Given the description of an element on the screen output the (x, y) to click on. 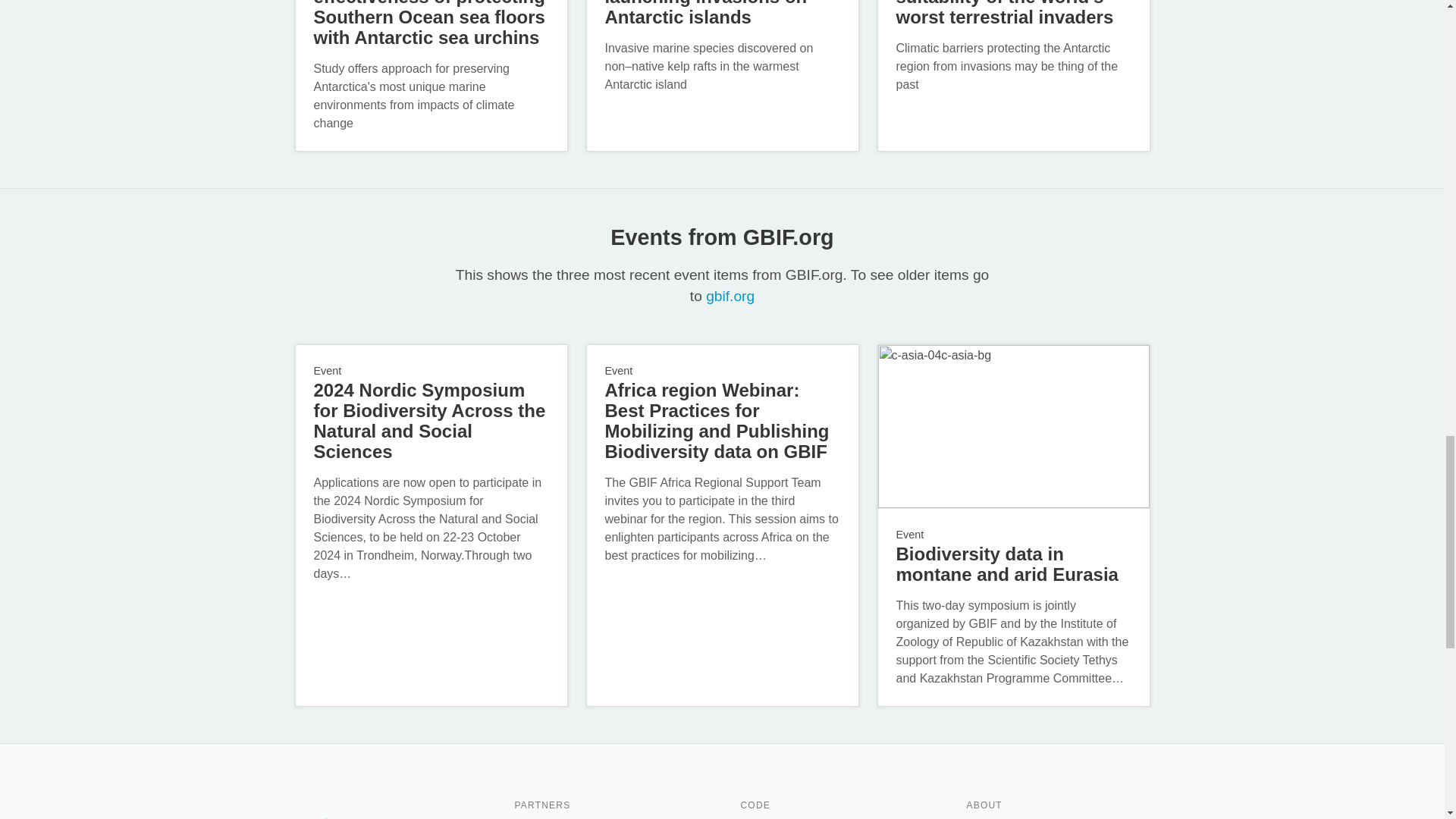
c-asia-04c-asia-bg (1013, 425)
